Given the description of an element on the screen output the (x, y) to click on. 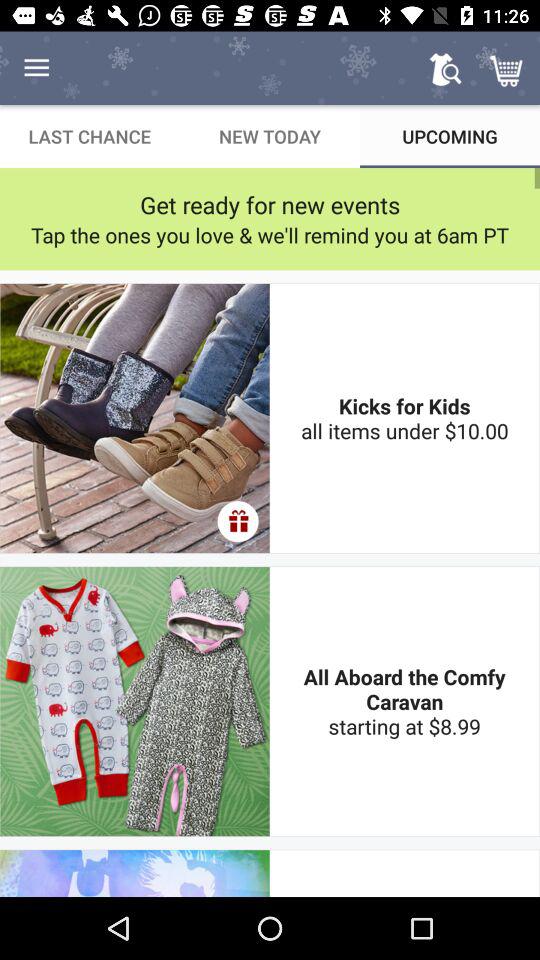
select item at the center (238, 521)
